Given the description of an element on the screen output the (x, y) to click on. 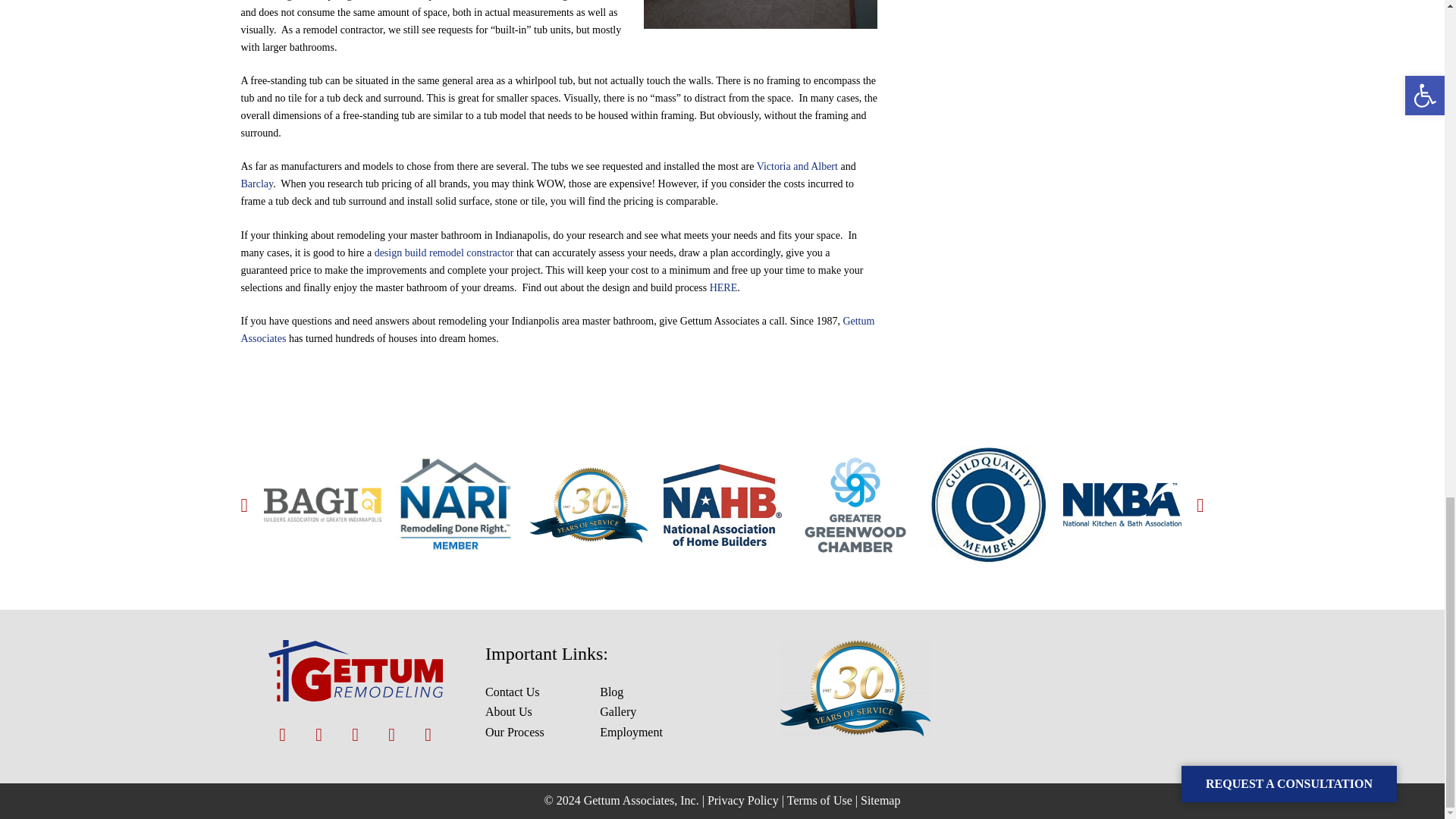
Victoria and Albert (797, 165)
design build remodel constractor (443, 252)
Barclay (257, 183)
HERE (724, 287)
Gettum Associates (558, 329)
